Given the description of an element on the screen output the (x, y) to click on. 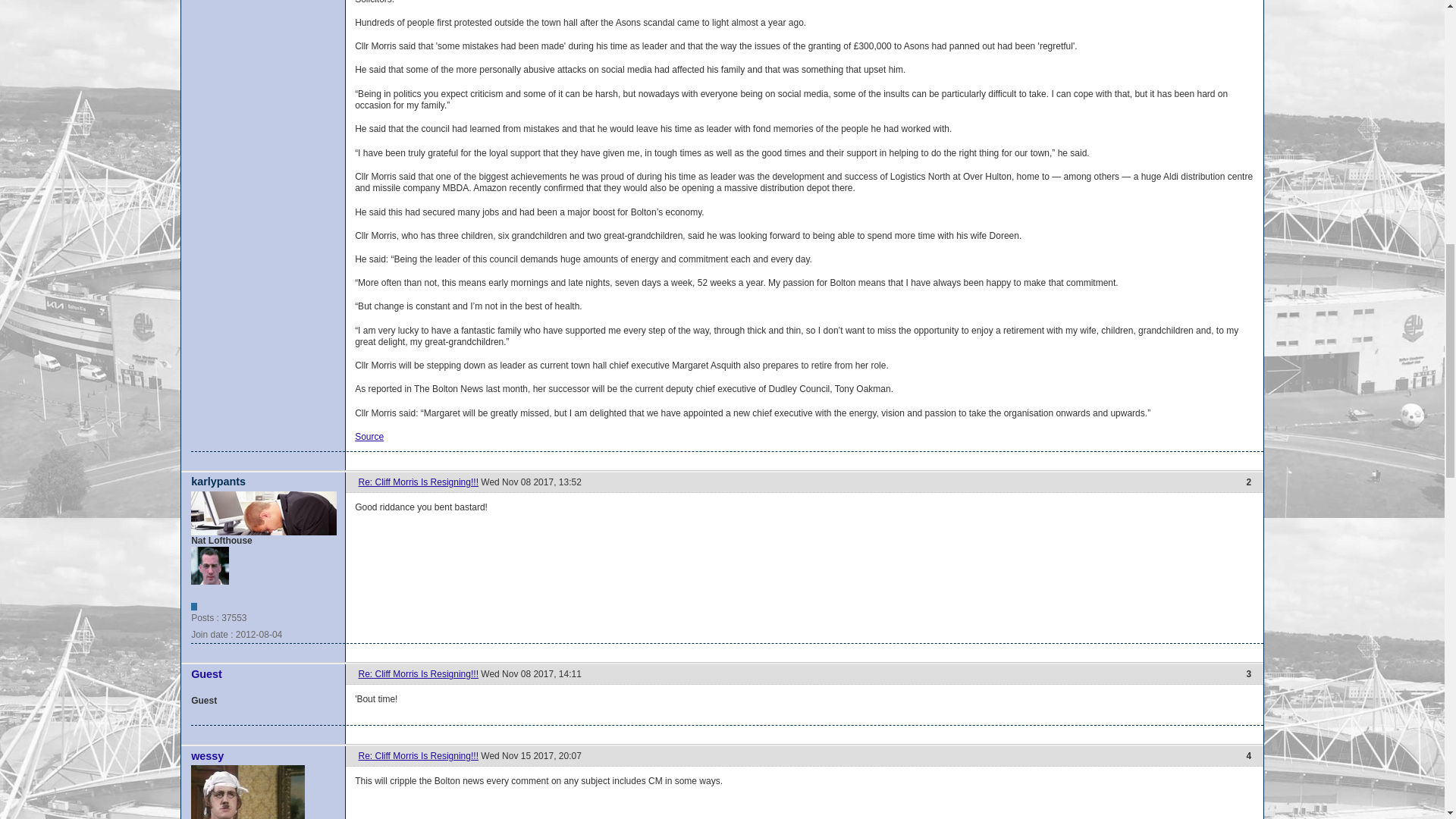
Source (369, 436)
Re: Cliff Morris Is Resigning!!! (418, 756)
Re: Cliff Morris Is Resigning!!! (418, 481)
Nat Lofthouse (209, 565)
Re: Cliff Morris Is Resigning!!! (418, 674)
